Given the description of an element on the screen output the (x, y) to click on. 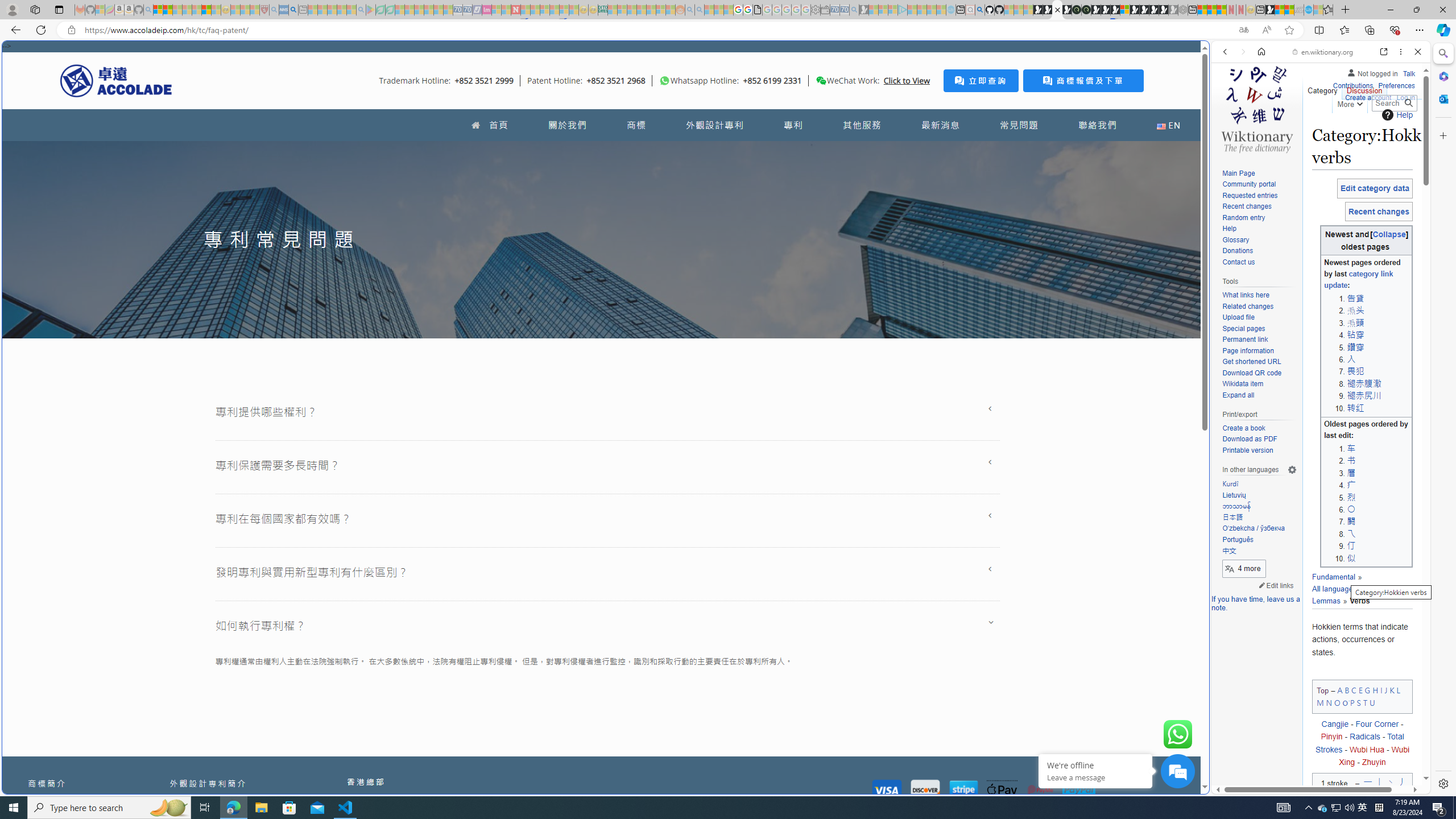
Earth has six continents not seven, radical new study claims (1288, 9)
Create a book (1259, 428)
Main Page (1238, 172)
